Given the description of an element on the screen output the (x, y) to click on. 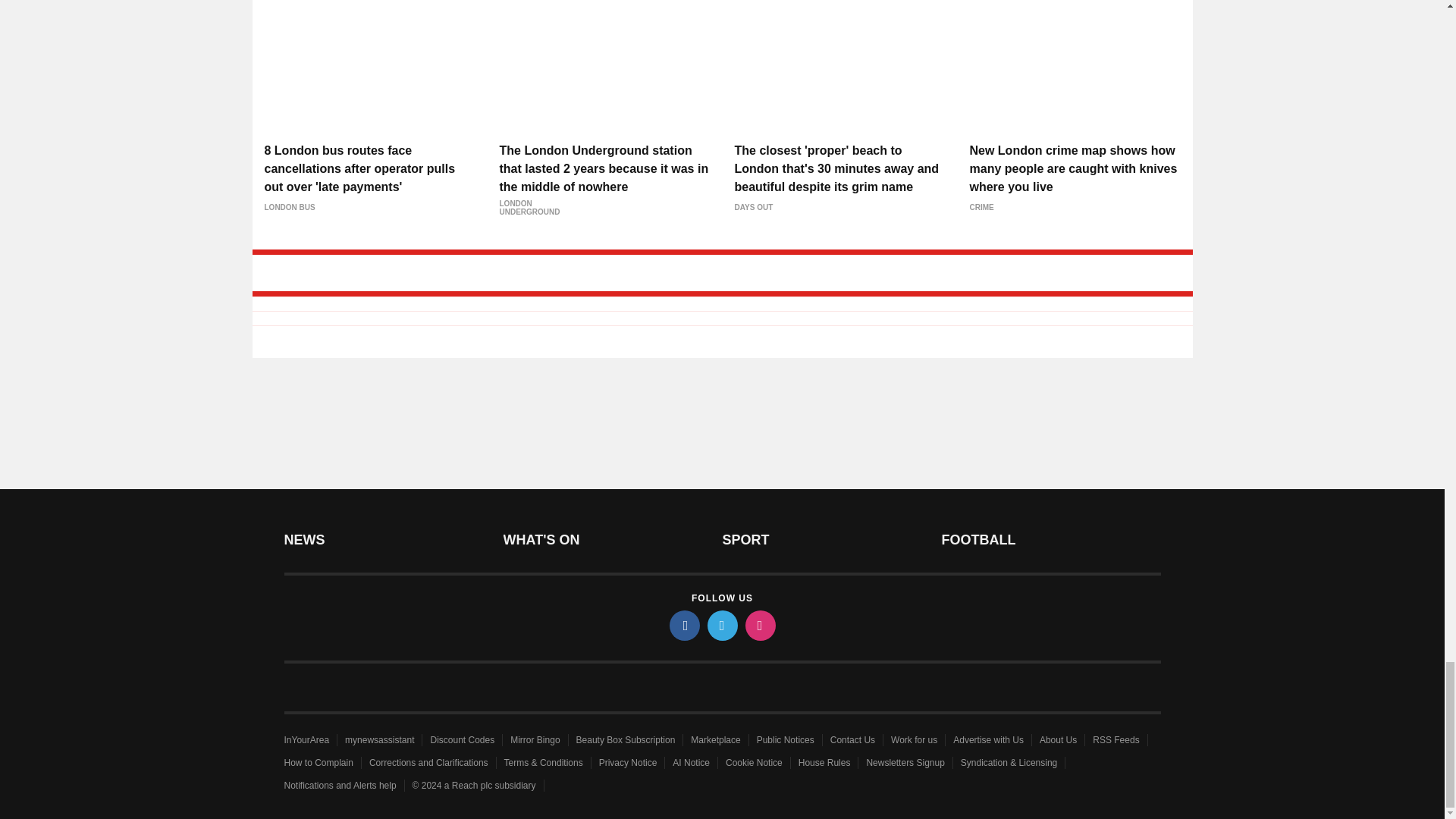
facebook (683, 625)
instagram (759, 625)
twitter (721, 625)
